Given the description of an element on the screen output the (x, y) to click on. 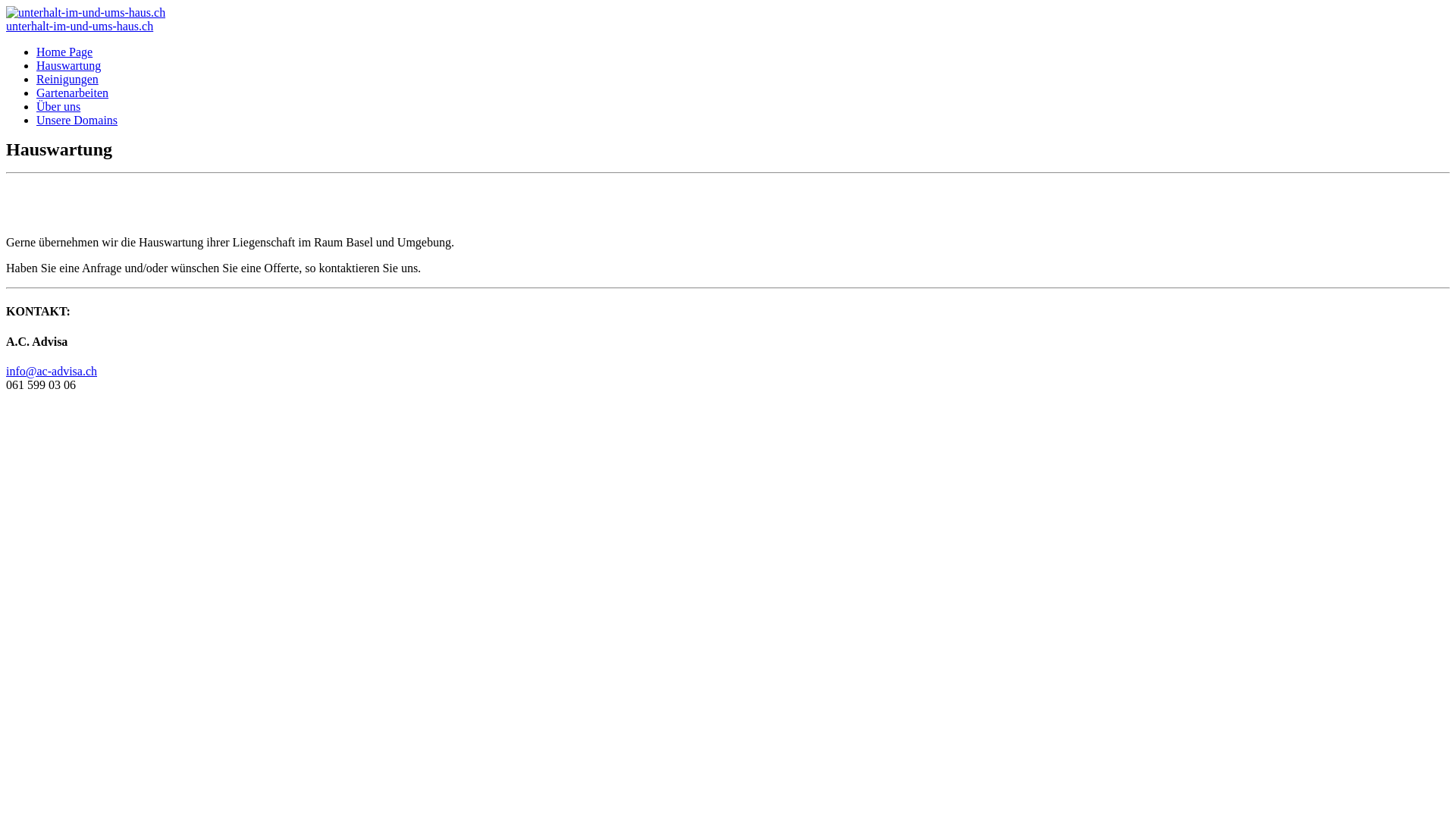
Unsere Domains Element type: text (76, 119)
info@ac-advisa.ch Element type: text (51, 370)
Gartenarbeiten Element type: text (72, 92)
Home Page Element type: text (64, 51)
Hauswartung Element type: text (68, 65)
unterhalt-im-und-ums-haus.ch Element type: text (79, 25)
Reinigungen Element type: text (67, 78)
